Given the description of an element on the screen output the (x, y) to click on. 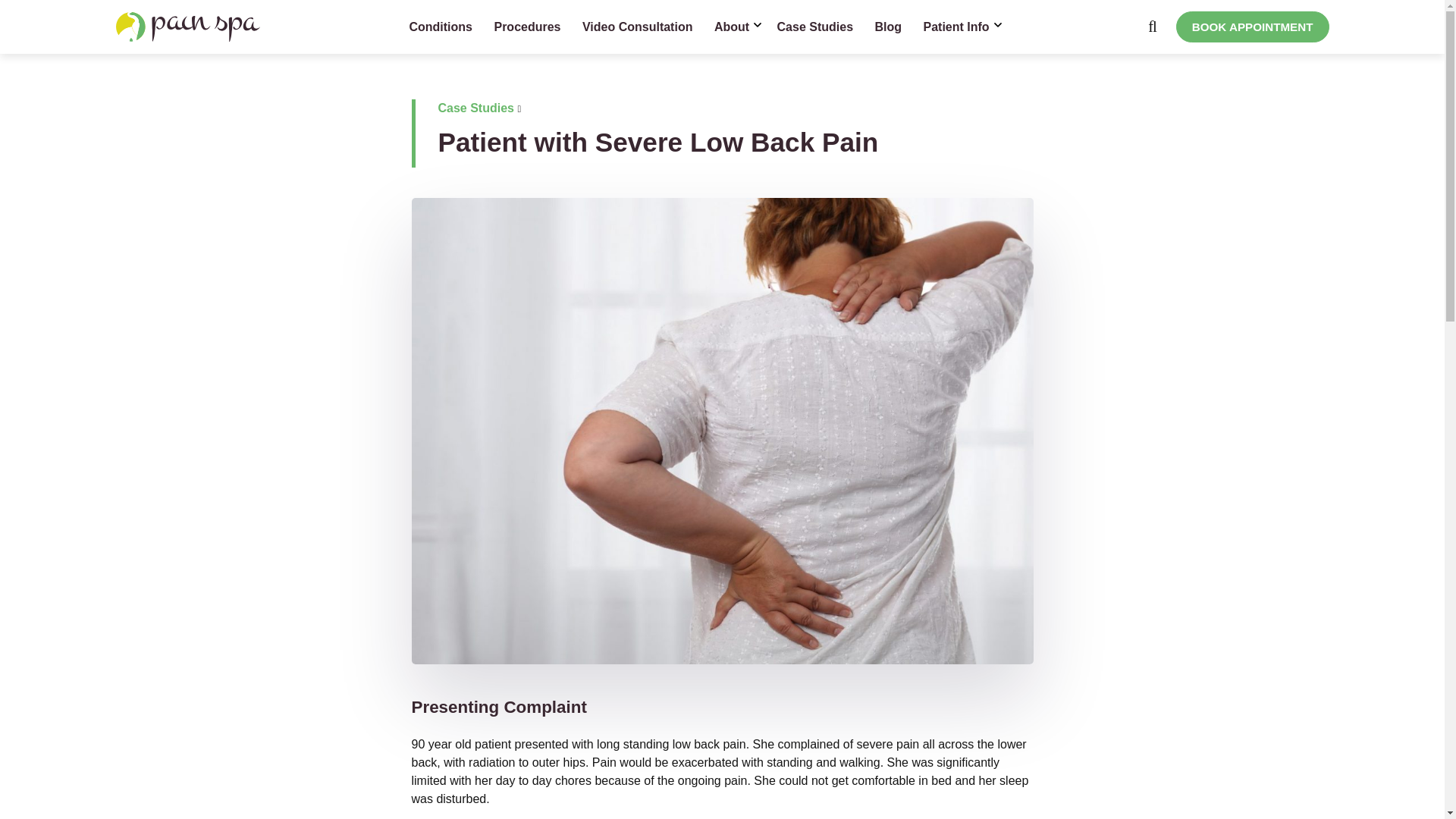
Case Studies (814, 26)
Procedures (526, 26)
Video Consultation (637, 26)
Conditions (439, 26)
BOOK APPOINTMENT (1252, 26)
Patient Info (959, 26)
About (734, 26)
Blog (887, 26)
